Given the description of an element on the screen output the (x, y) to click on. 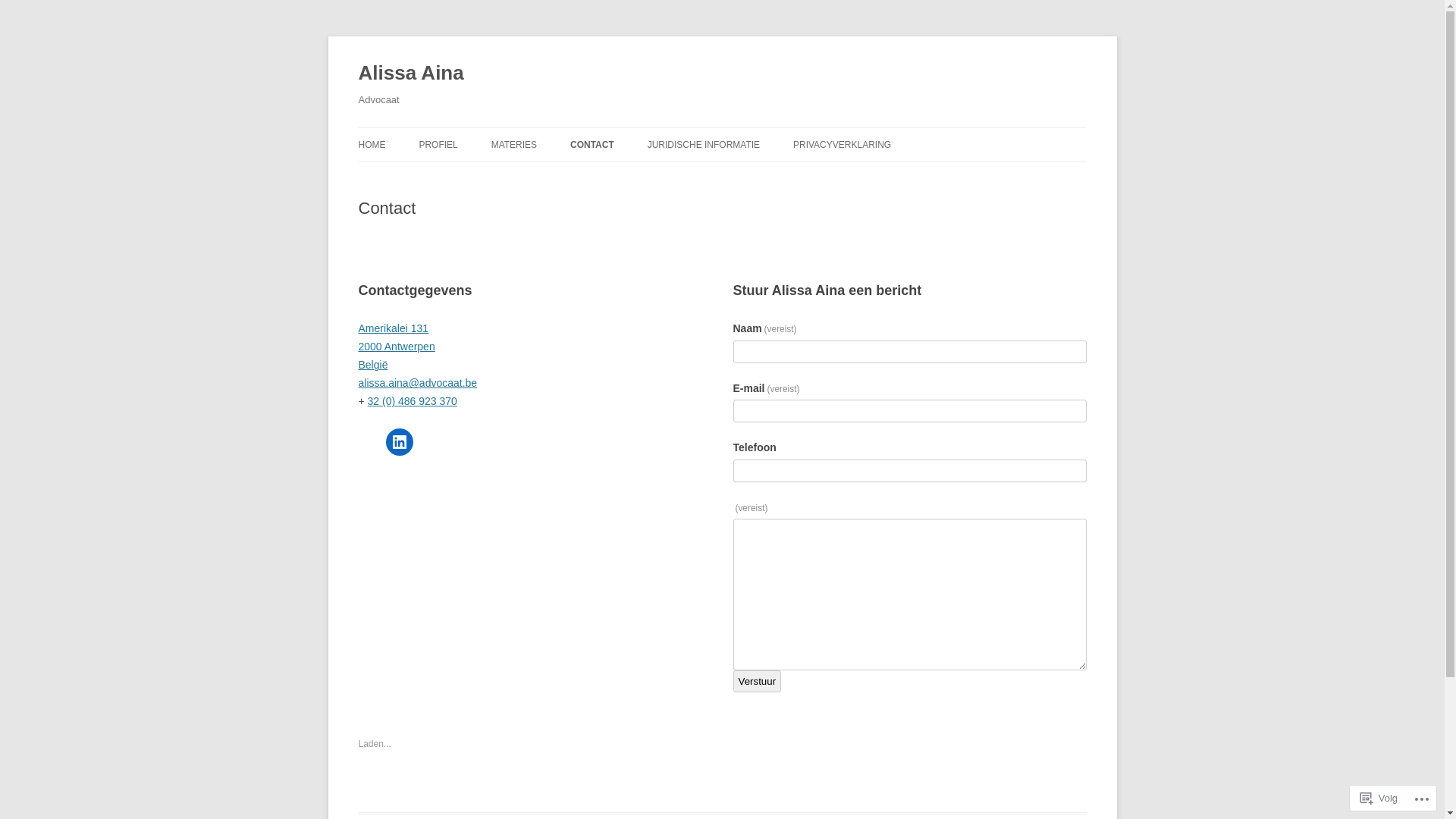
Alissa Aina Element type: text (410, 72)
Spring naar inhoud Element type: text (721, 127)
CONTACT Element type: text (592, 144)
32 (0) 486 923 370 Element type: text (412, 401)
HOME Element type: text (371, 144)
PROFIEL Element type: text (437, 144)
JURIDISCHE INFORMATIE Element type: text (703, 144)
PRIVACYVERKLARING Element type: text (842, 144)
Volg Element type: text (1378, 797)
Verstuur Element type: text (756, 681)
alissa.aina@advocaat.be Element type: text (416, 382)
MATERIES Element type: text (513, 144)
